Given the description of an element on the screen output the (x, y) to click on. 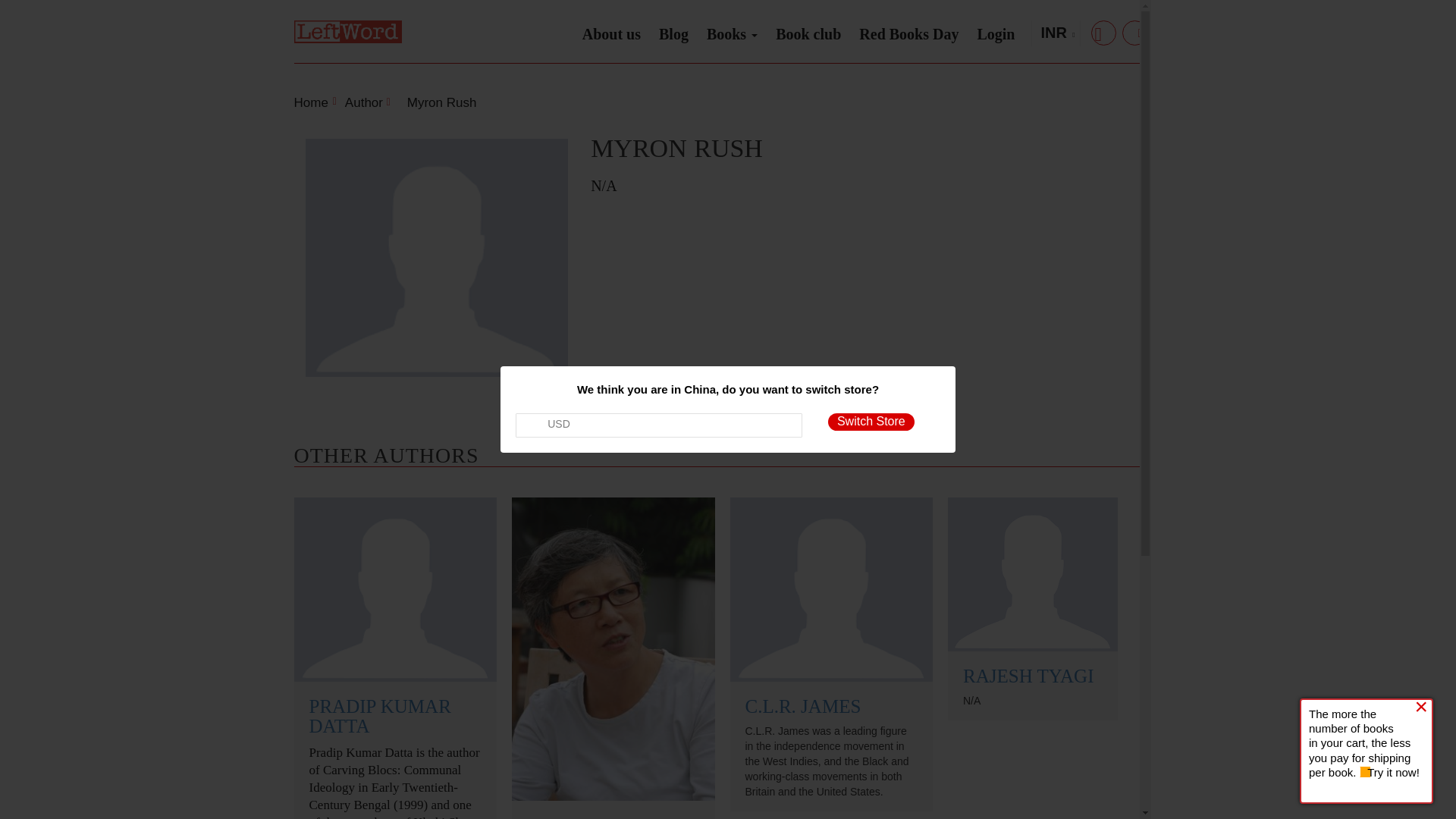
Go to Author Home Page (366, 102)
Blog (673, 34)
C.L.R. JAMES (802, 706)
Book club (808, 34)
About us (611, 34)
Go to Home Page (311, 102)
Books (732, 31)
Home (311, 102)
Author (366, 102)
WANG CHAOHUA (604, 816)
PRADIP KUMAR DATTA (379, 716)
